Given the description of an element on the screen output the (x, y) to click on. 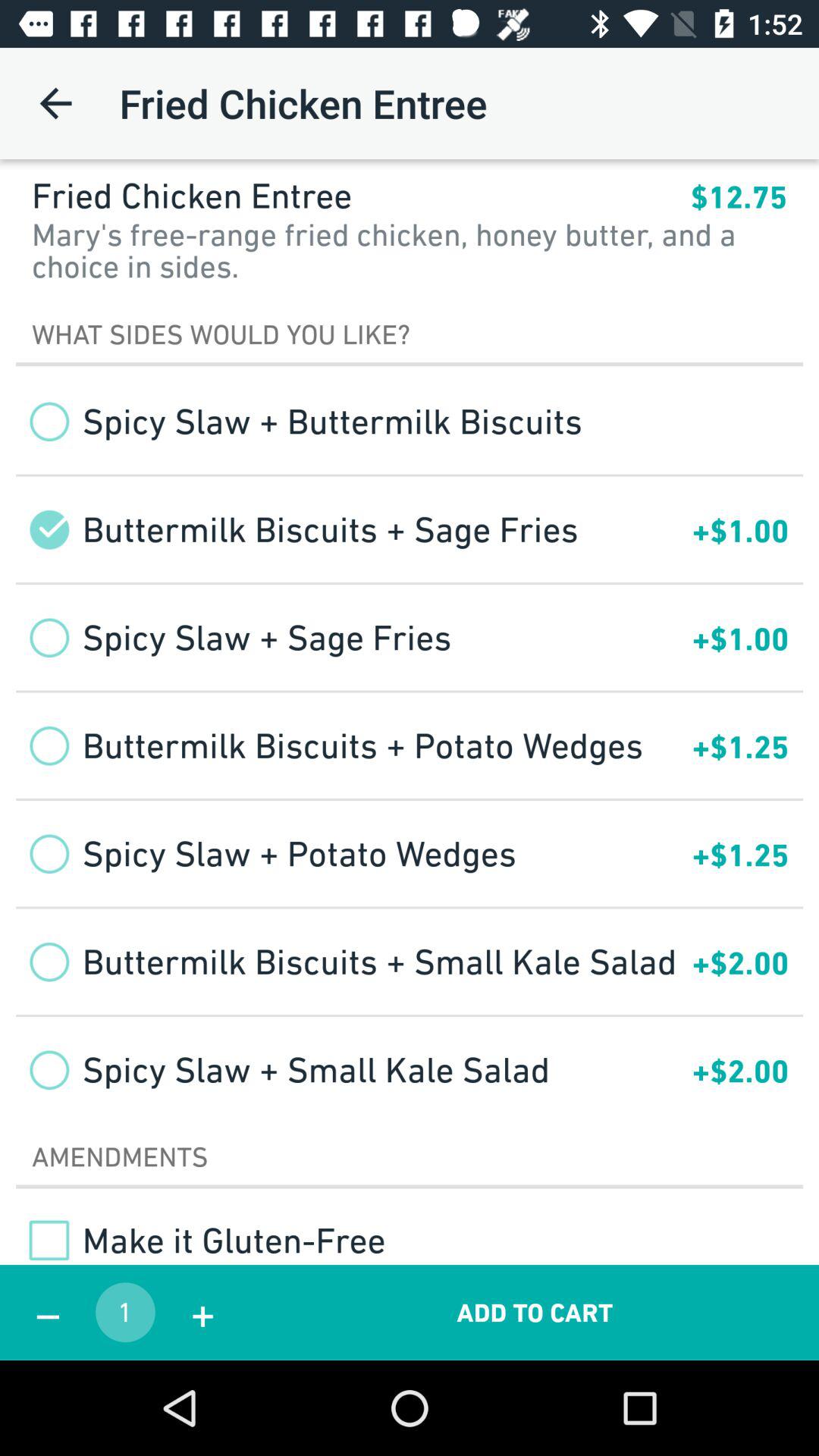
click the icon next to the fried chicken entree item (738, 197)
